Given the description of an element on the screen output the (x, y) to click on. 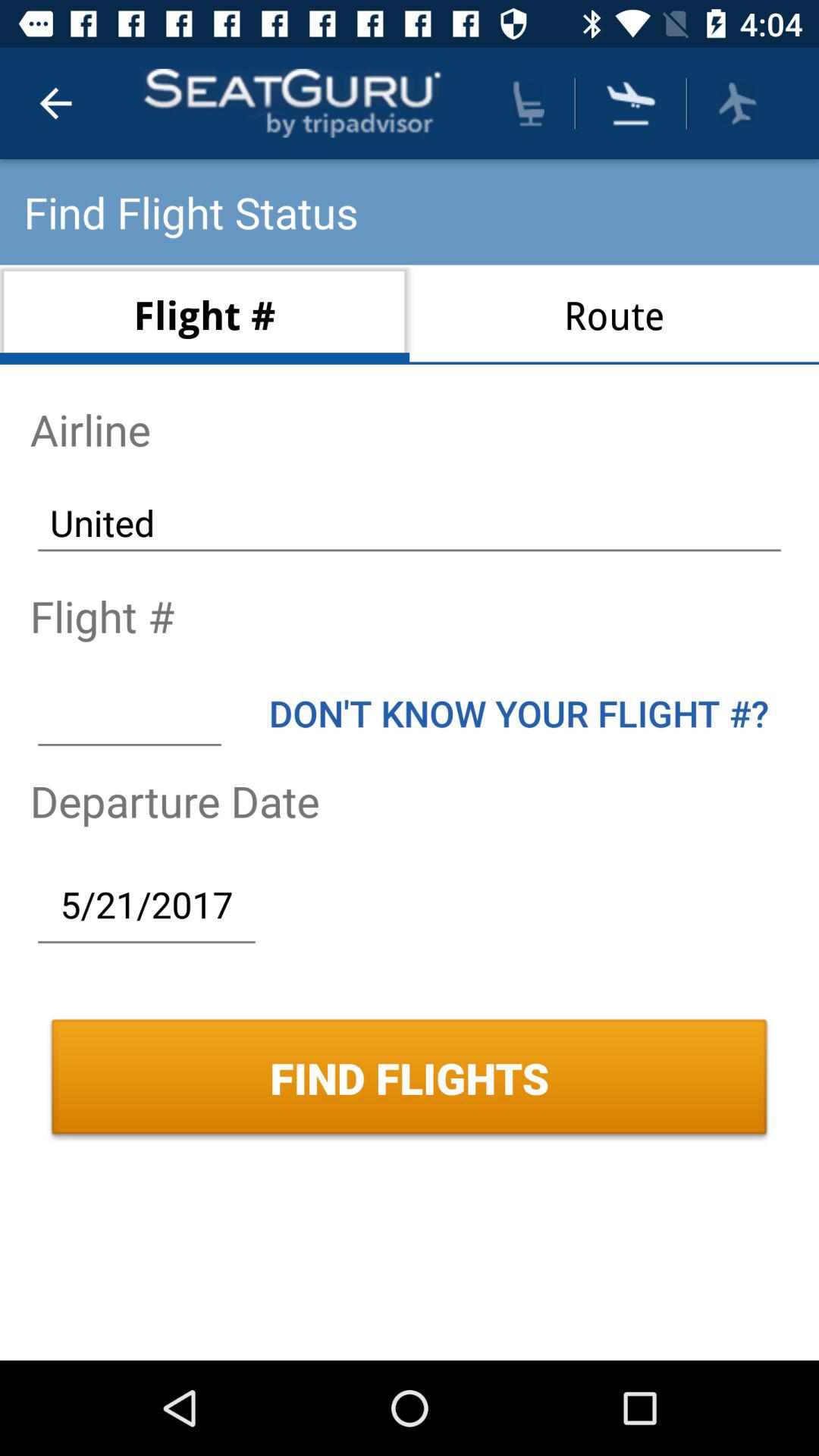
open the item below the departure date icon (146, 903)
